Given the description of an element on the screen output the (x, y) to click on. 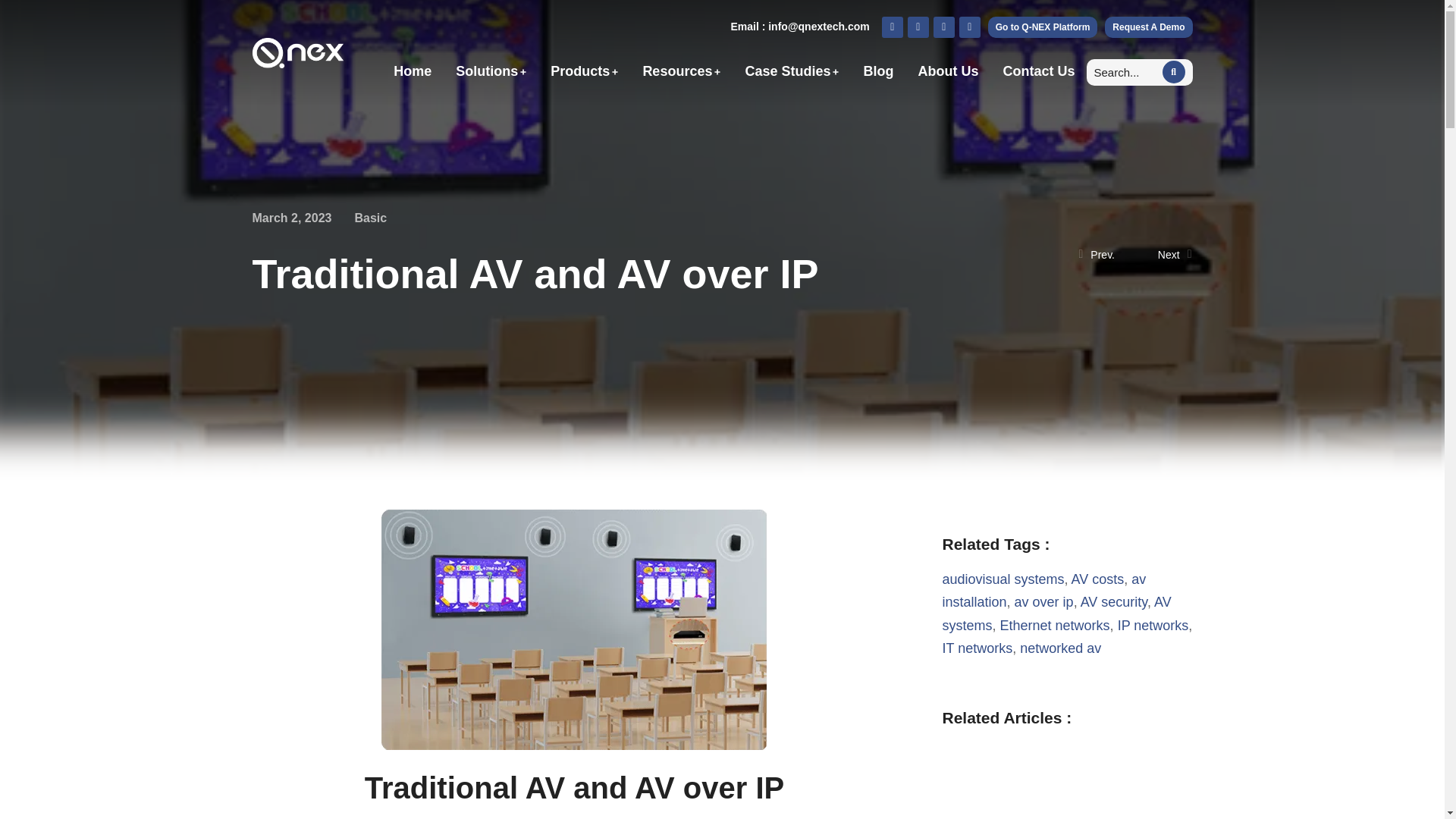
Solutions (490, 71)
Home (411, 71)
Request A Demo (1148, 26)
Resources (681, 71)
Search (1173, 71)
Products (583, 71)
Go to Q-NEX Platform (1042, 26)
Search (1117, 71)
